Given the description of an element on the screen output the (x, y) to click on. 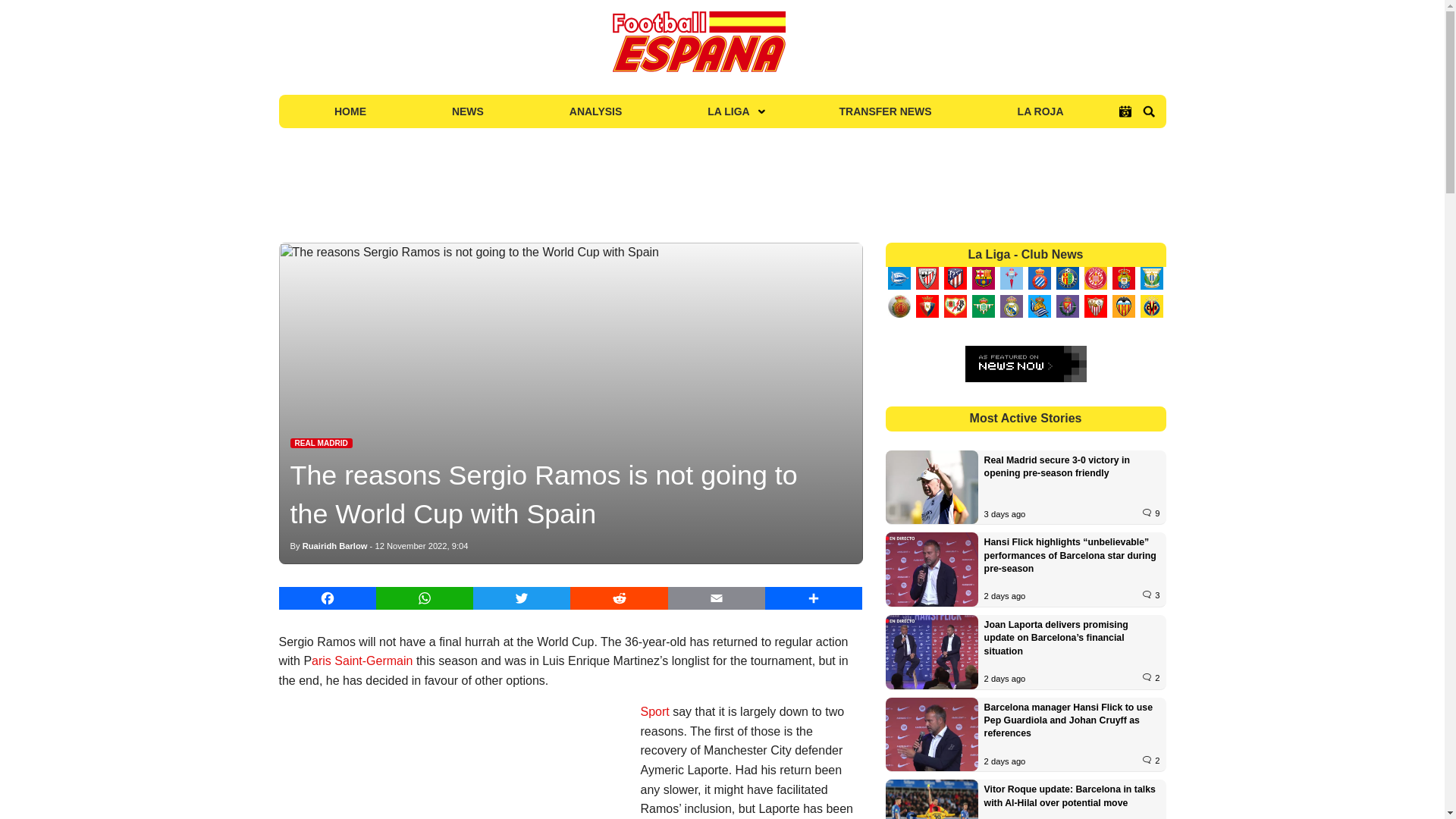
Reddit (618, 598)
ANALYSIS (595, 111)
Email (716, 598)
Search (1147, 111)
Facebook (327, 598)
NEWS (468, 111)
LA LIGA (729, 111)
TRANSFER NEWS (885, 111)
Latest Real Madrid News (320, 442)
Twitter (521, 598)
LA ROJA (1040, 111)
WhatsApp (424, 598)
HOME (350, 111)
La Liga Fixtures (1125, 111)
